Given the description of an element on the screen output the (x, y) to click on. 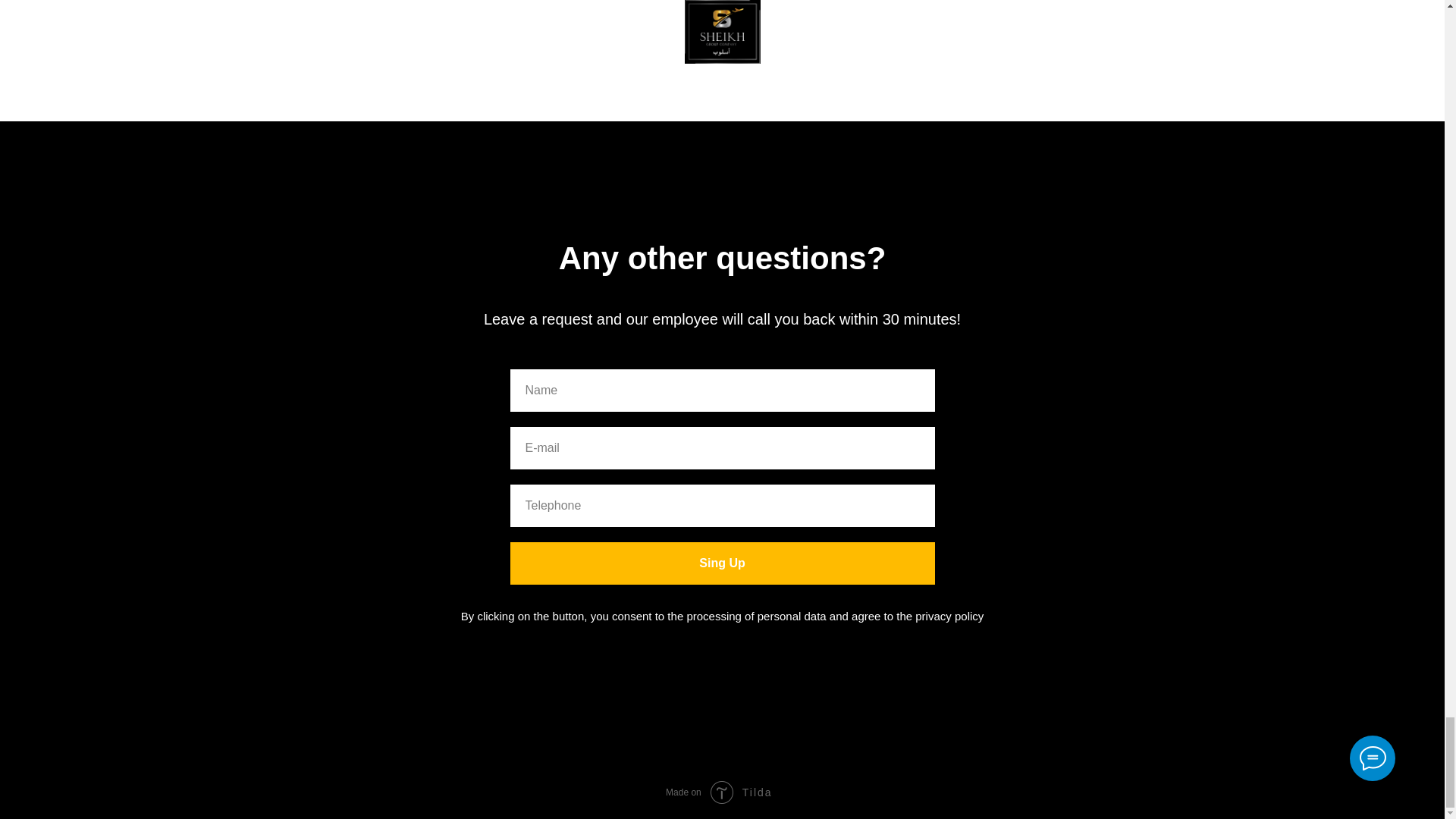
Sing Up (721, 563)
